Given the description of an element on the screen output the (x, y) to click on. 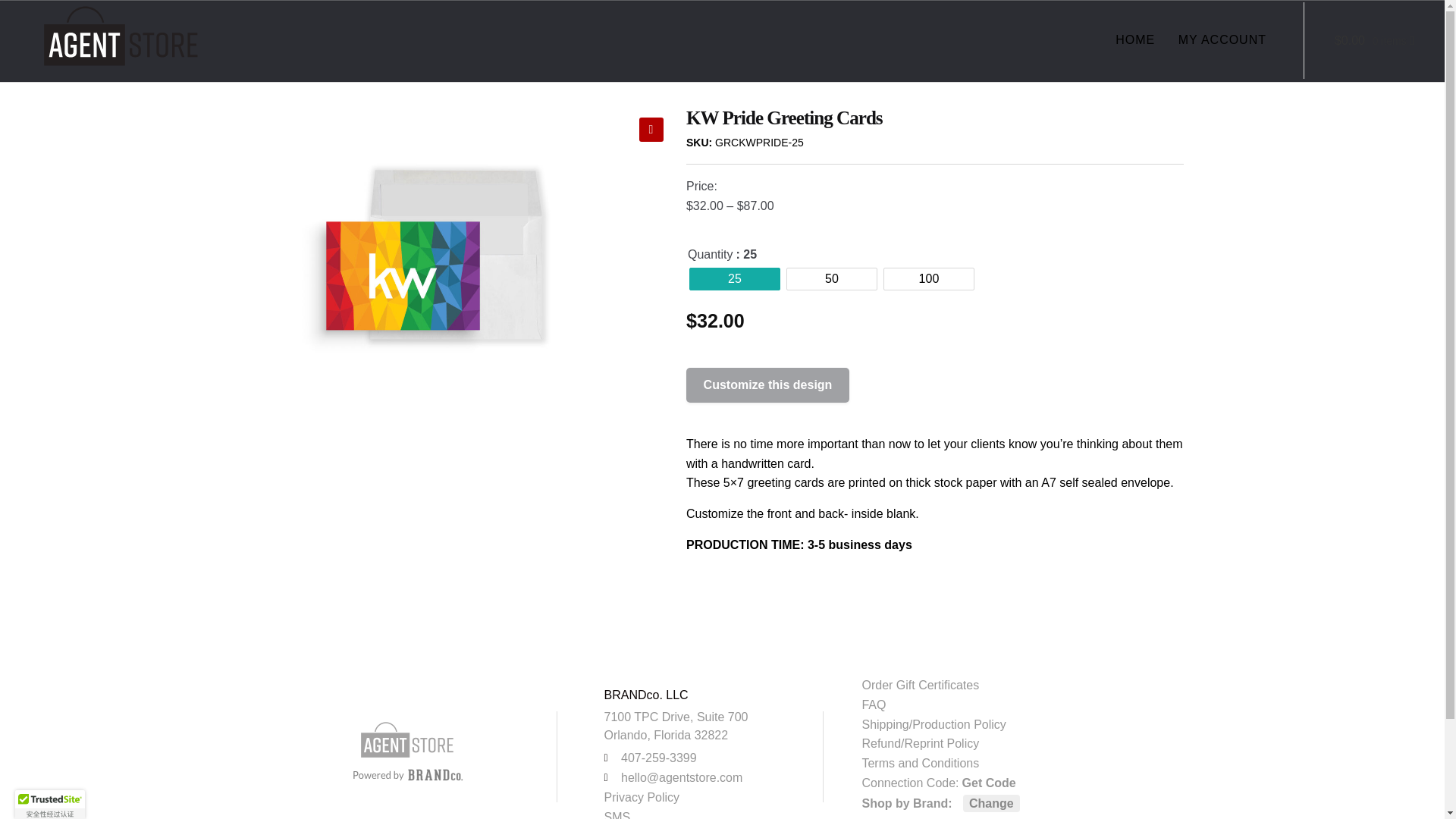
25 (734, 278)
100 (928, 278)
TrustedSite Certified (49, 804)
Get Code (989, 782)
Privacy Policy (694, 797)
Order Gift Certificates (999, 685)
50 (831, 278)
FAQ (999, 704)
AgentStore (407, 739)
Terms and Conditions (999, 763)
